Given the description of an element on the screen output the (x, y) to click on. 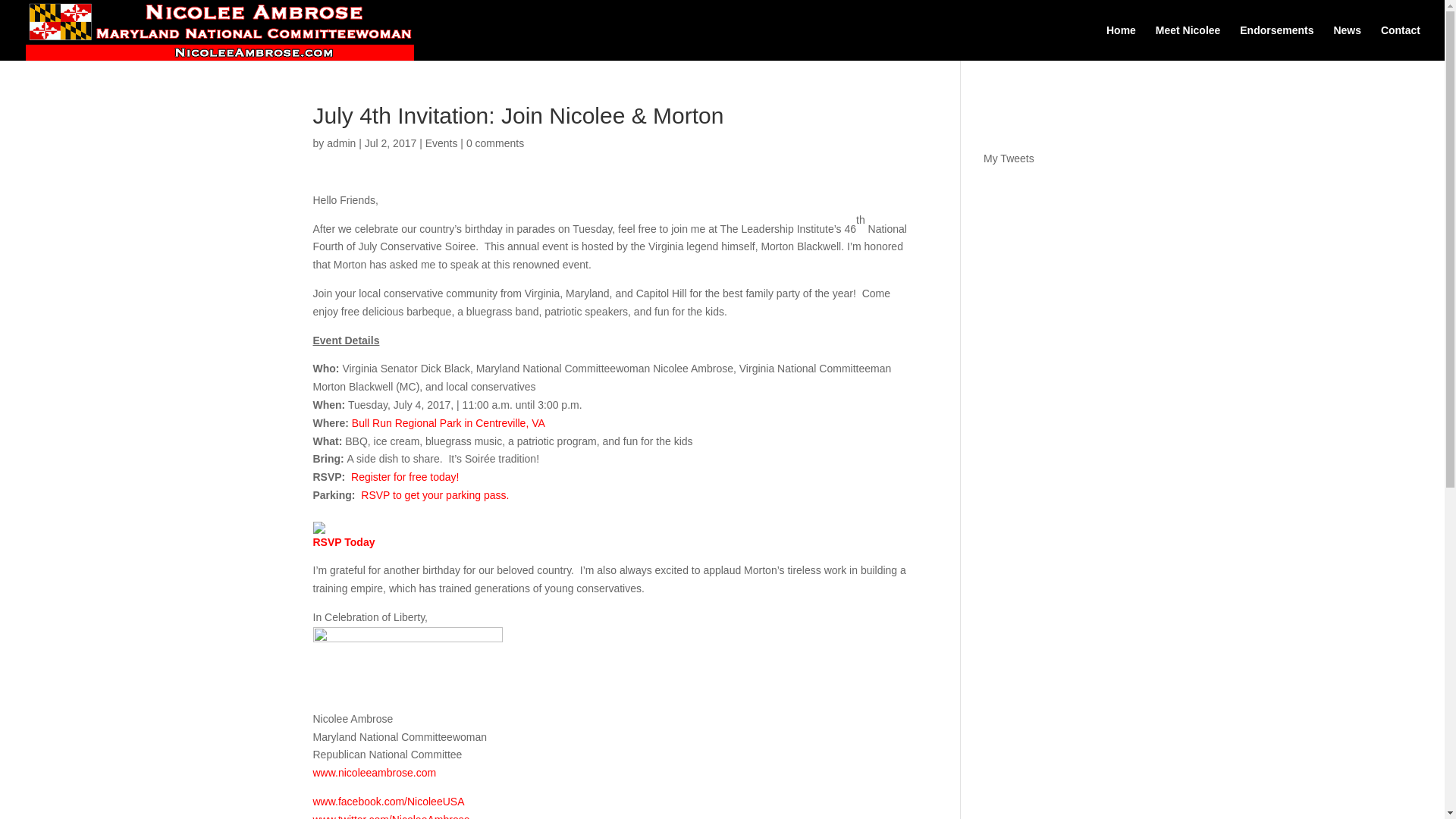
0 comments (494, 143)
Contact (1400, 42)
Meet Nicolee (1188, 42)
Bull Run Regional Park in Centreville, VA (448, 422)
Endorsements (1276, 42)
RSVP Today (343, 541)
Posts by admin (340, 143)
Events (441, 143)
My Tweets (1008, 158)
www.nicoleeambrose.com (374, 772)
admin (340, 143)
Register for free today! (404, 476)
RSVP to get your parking pass. (434, 494)
RSVP Today (343, 541)
